Given the description of an element on the screen output the (x, y) to click on. 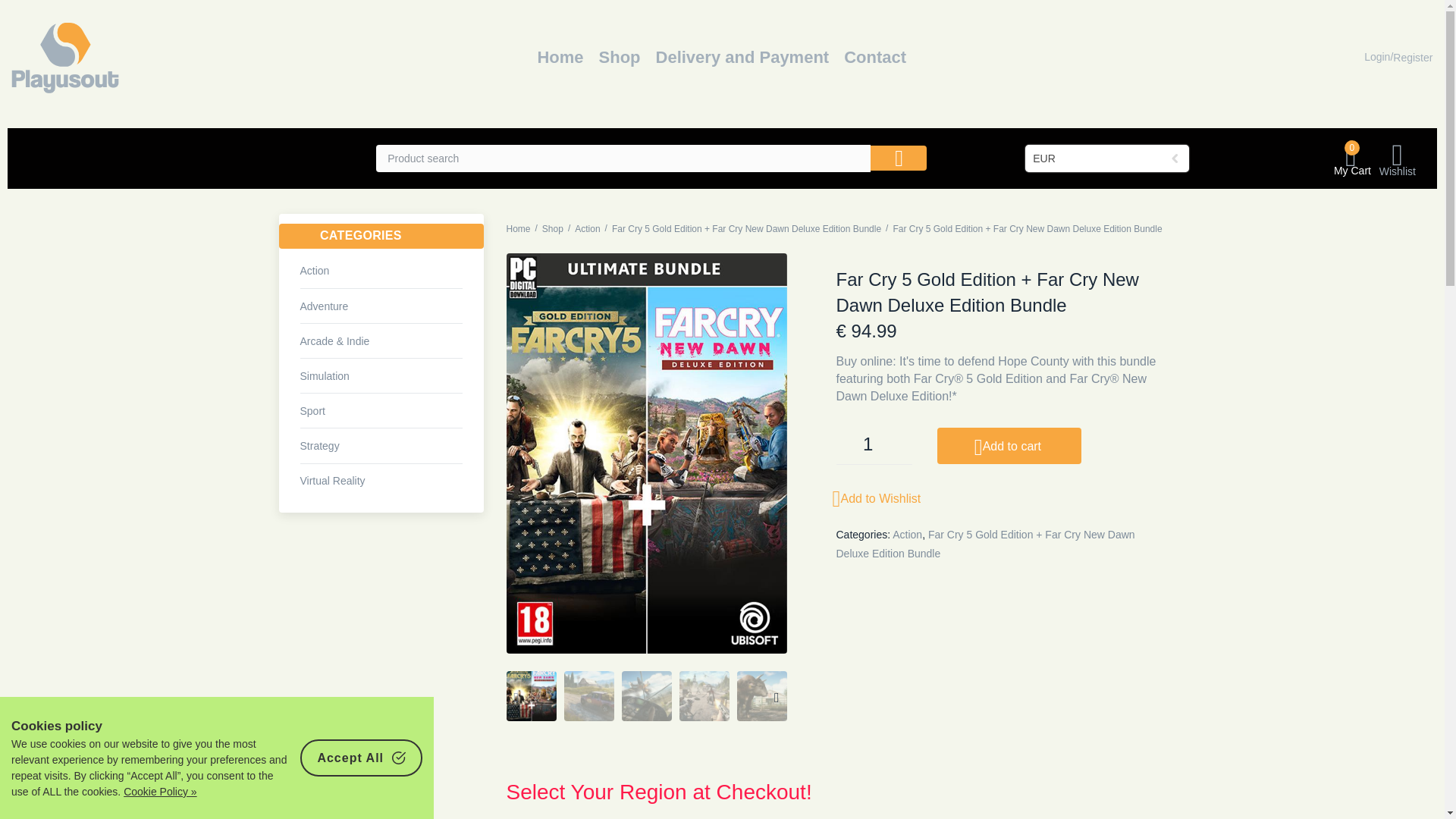
Action (381, 271)
Login (1377, 56)
Contact (874, 57)
Adventure (381, 306)
Strategy (381, 445)
Shop (552, 229)
Home (518, 229)
Wishlist (1396, 158)
Shop (619, 57)
Action (587, 229)
Home (560, 57)
Action (587, 229)
Sport (381, 410)
1 (873, 447)
Delivery and Payment (742, 57)
